Given the description of an element on the screen output the (x, y) to click on. 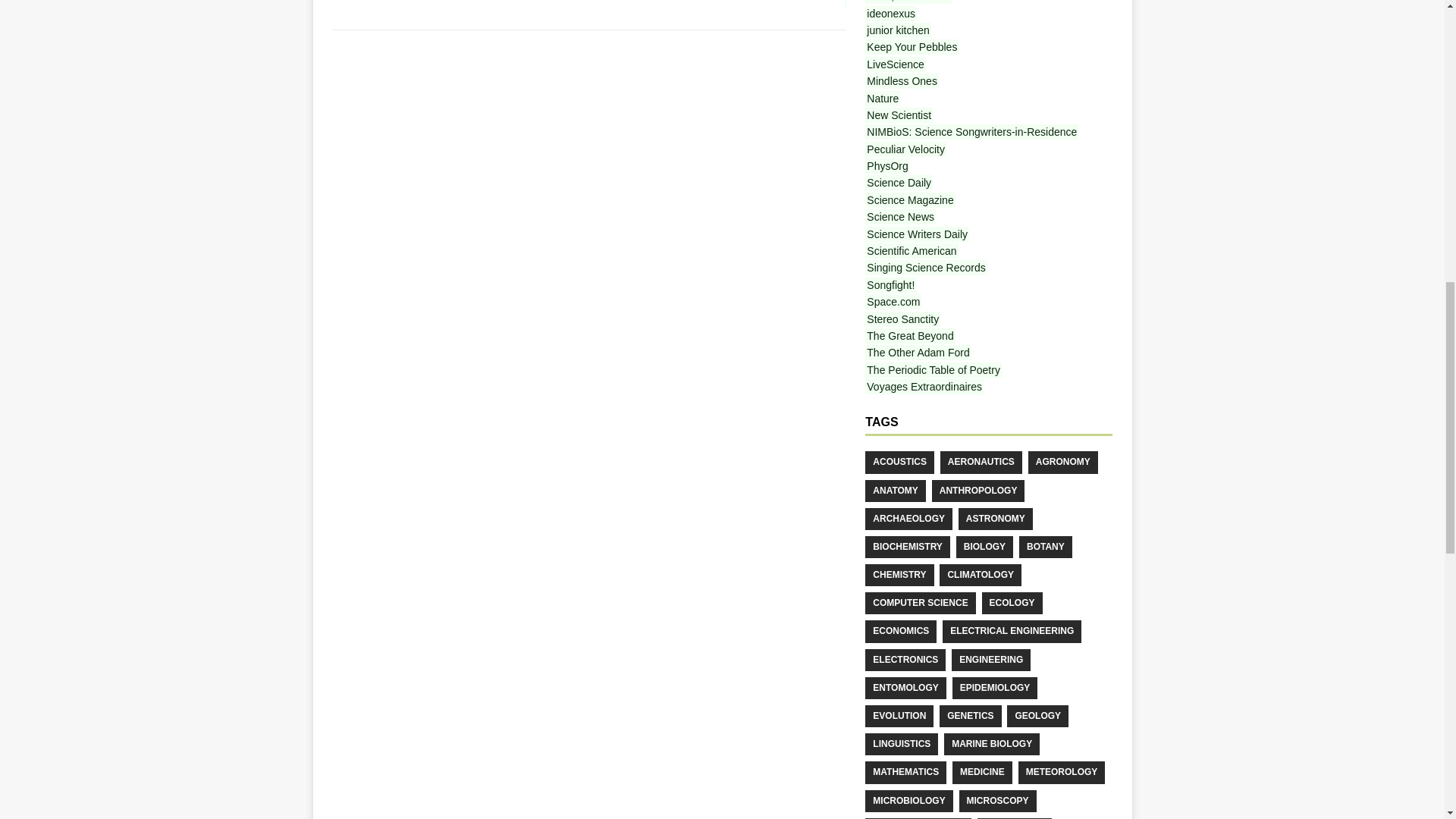
ideonexus (890, 13)
junior kitchen (897, 29)
Peculiar Velocity (905, 149)
New Scientist (898, 114)
Science Daily (898, 182)
Science News (900, 216)
Mindless Ones (901, 80)
Science Magazine (909, 200)
Keep Your Pebbles (911, 46)
PhysOrg (886, 165)
